Given the description of an element on the screen output the (x, y) to click on. 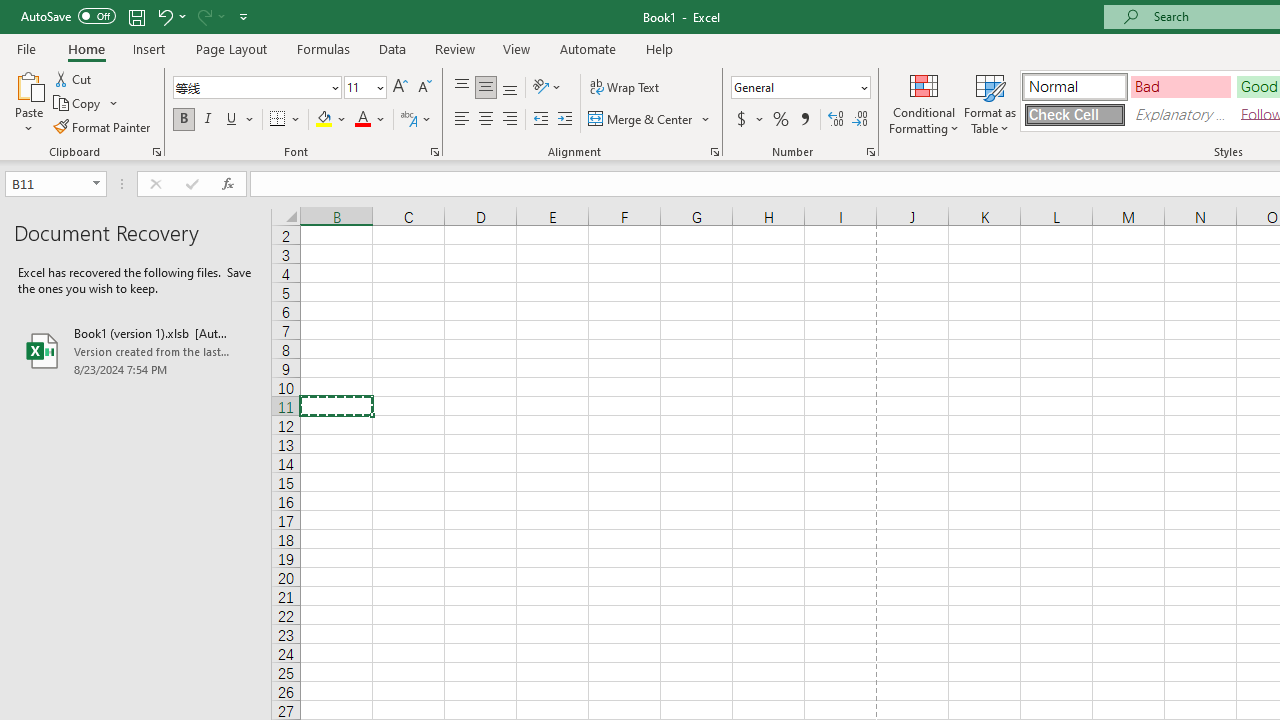
Format Cell Font (434, 151)
Copy (78, 103)
Fill Color (331, 119)
Fill Color RGB(255, 255, 0) (324, 119)
Format Cell Alignment (714, 151)
Font Size (365, 87)
Explanatory Text (1180, 114)
